Given the description of an element on the screen output the (x, y) to click on. 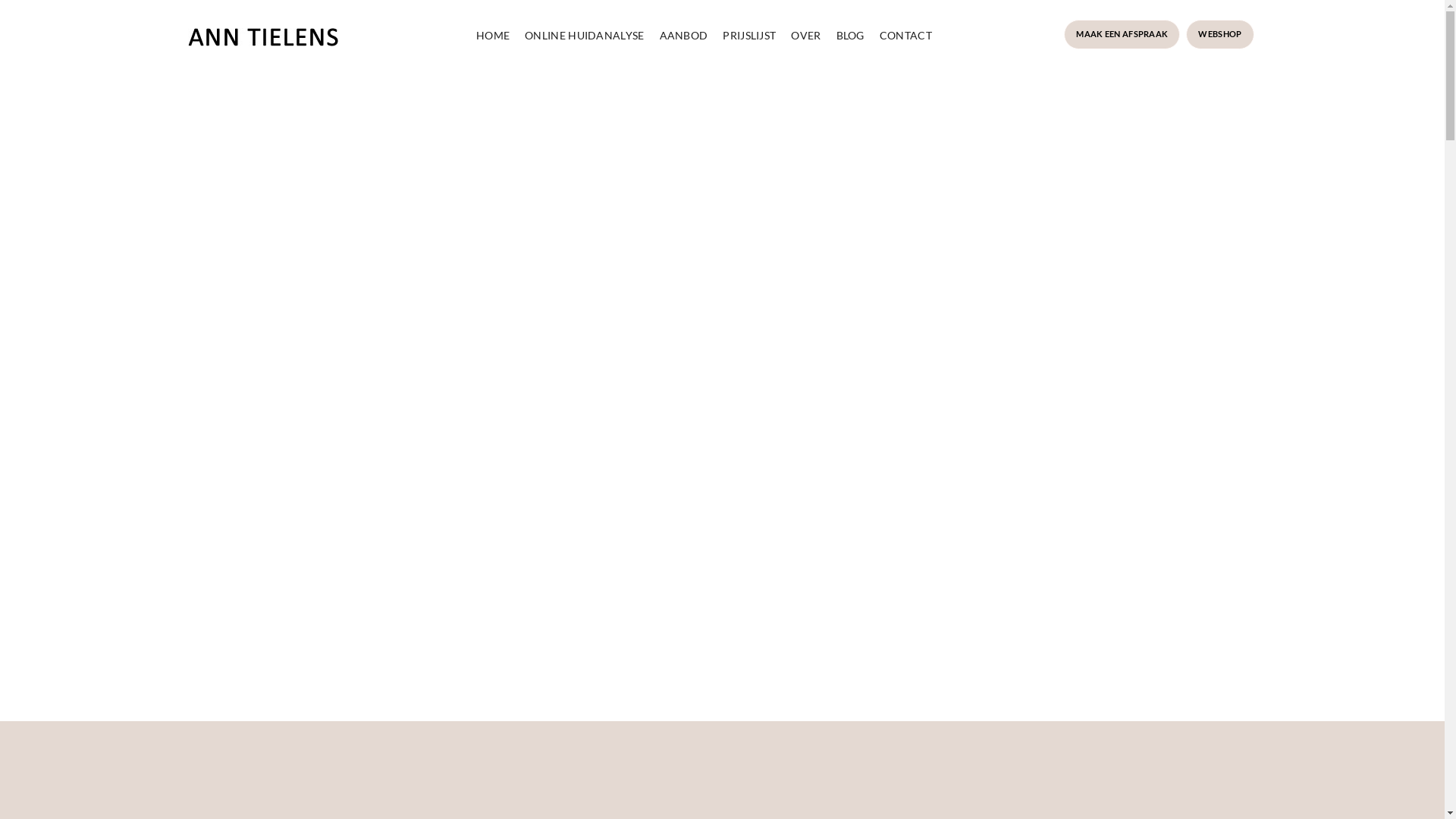
CONTACT Element type: text (905, 34)
PRIJSLIJST Element type: text (748, 34)
AANBOD Element type: text (683, 34)
HOME Element type: text (492, 34)
BLOG Element type: text (850, 34)
OVER Element type: text (805, 34)
WEBSHOP Element type: text (1219, 34)
MAAK EEN AFSPRAAK Element type: text (1121, 34)
ONLINE HUIDANALYSE Element type: text (583, 34)
